Given the description of an element on the screen output the (x, y) to click on. 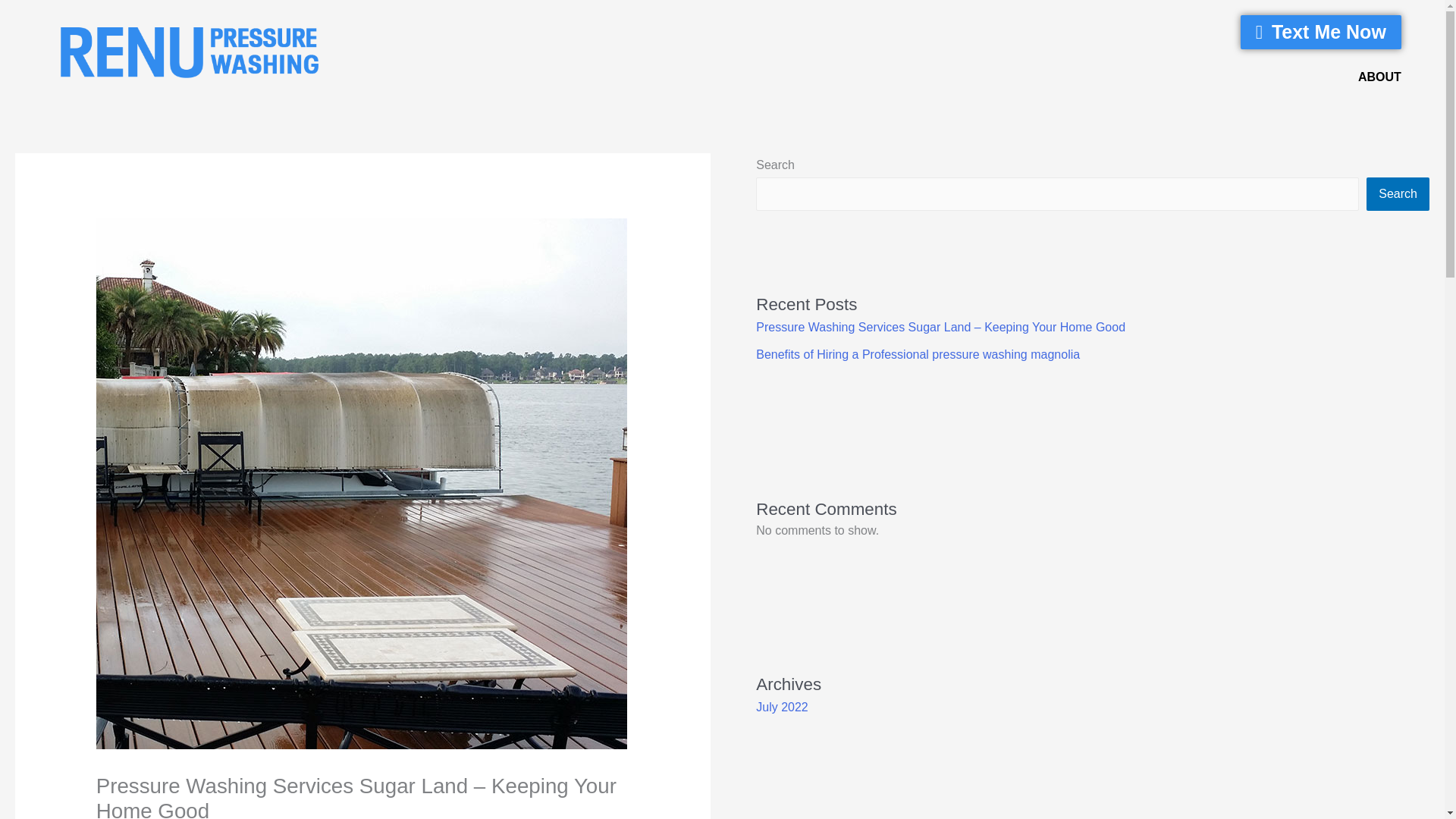
ABOUT (1379, 77)
Benefits of Hiring a Professional pressure washing magnolia (917, 354)
Text Me Now (1320, 32)
July 2022 (781, 707)
Search (1398, 193)
